Given the description of an element on the screen output the (x, y) to click on. 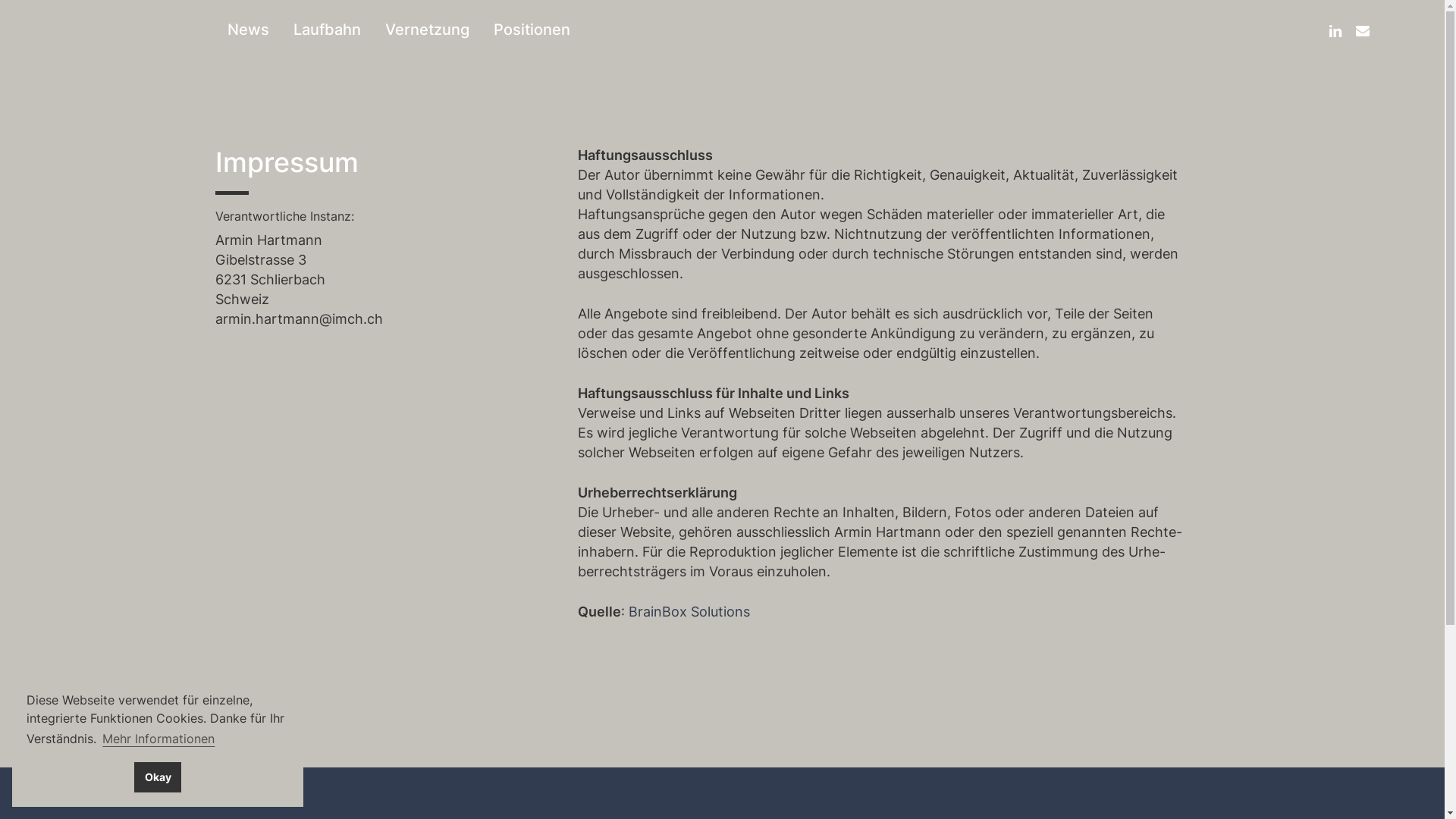
News Element type: text (248, 29)
Positionen Element type: text (531, 29)
Mehr Informationen Element type: text (158, 738)
email Element type: text (1362, 29)
Laufbahn Element type: text (326, 29)
Okay Element type: text (157, 777)
linkedin Element type: text (1335, 29)
Vernetzung Element type: text (427, 29)
